Given the description of an element on the screen output the (x, y) to click on. 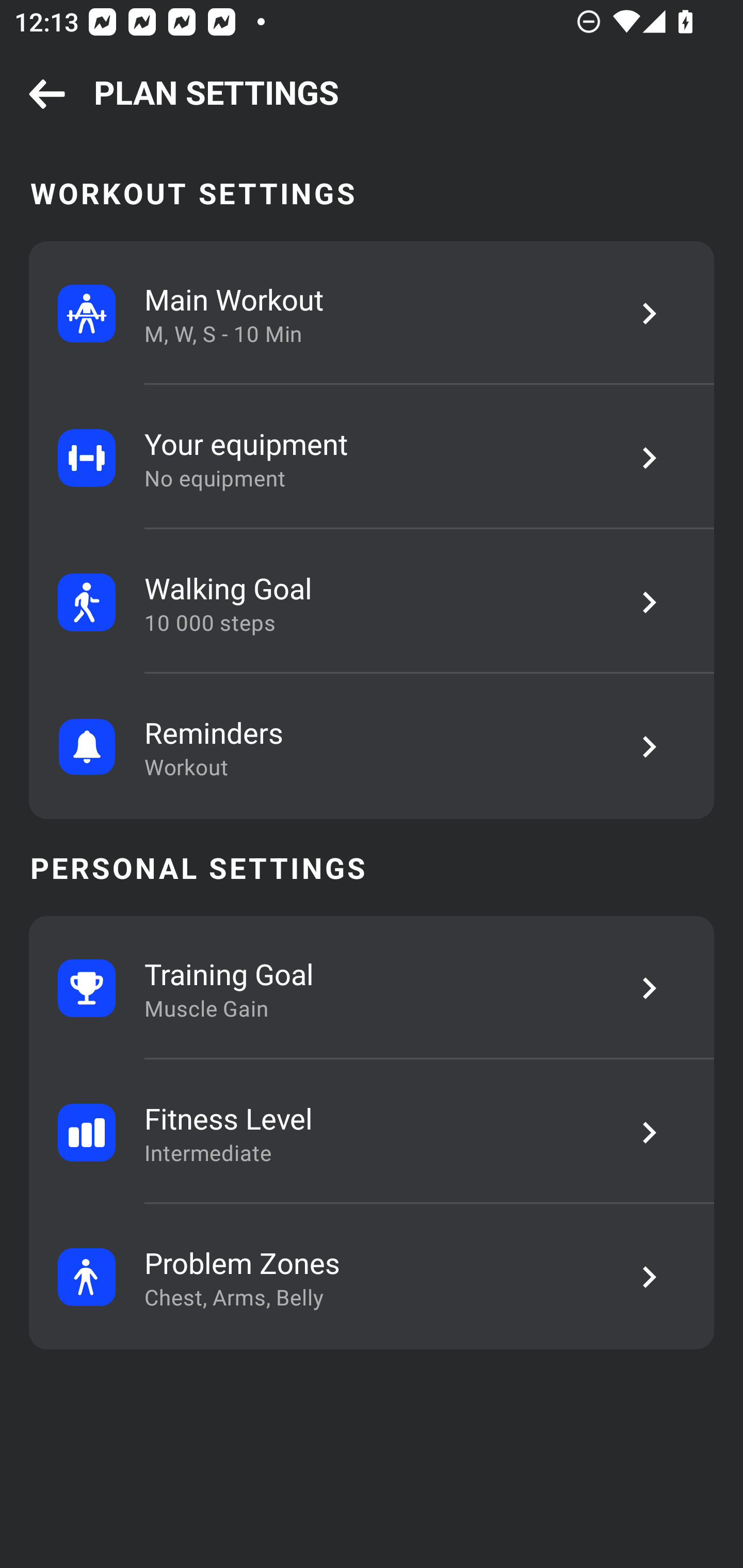
Navigation icon (46, 94)
EQUIPMENT Your equipment No equipment EQUIPMENT (371, 457)
REMINDERS Reminders Workout REMINDERS (371, 746)
